Given the description of an element on the screen output the (x, y) to click on. 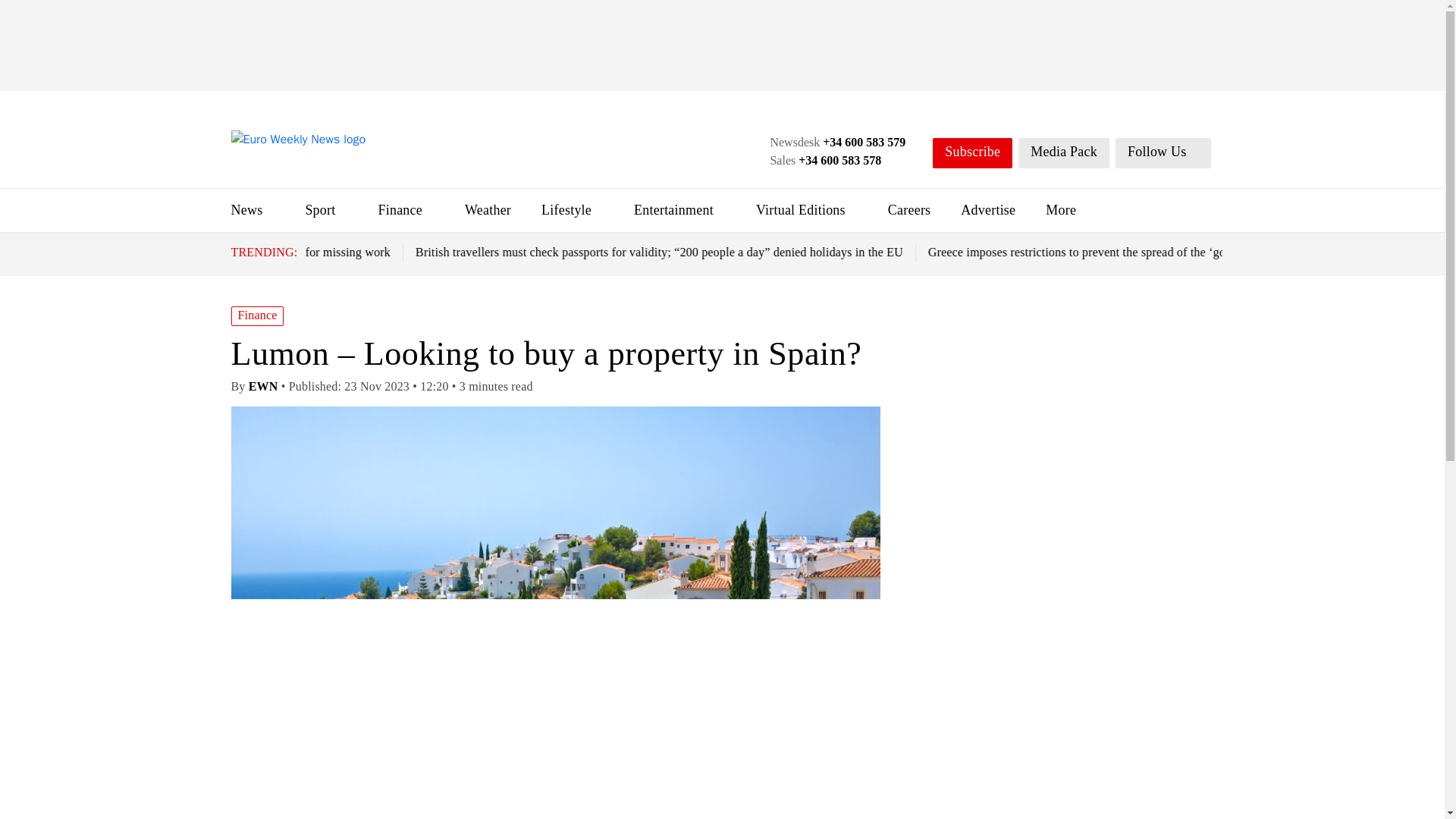
Subscribe (972, 153)
News (246, 209)
Follow Us (1163, 153)
Media Pack (1063, 153)
